Given the description of an element on the screen output the (x, y) to click on. 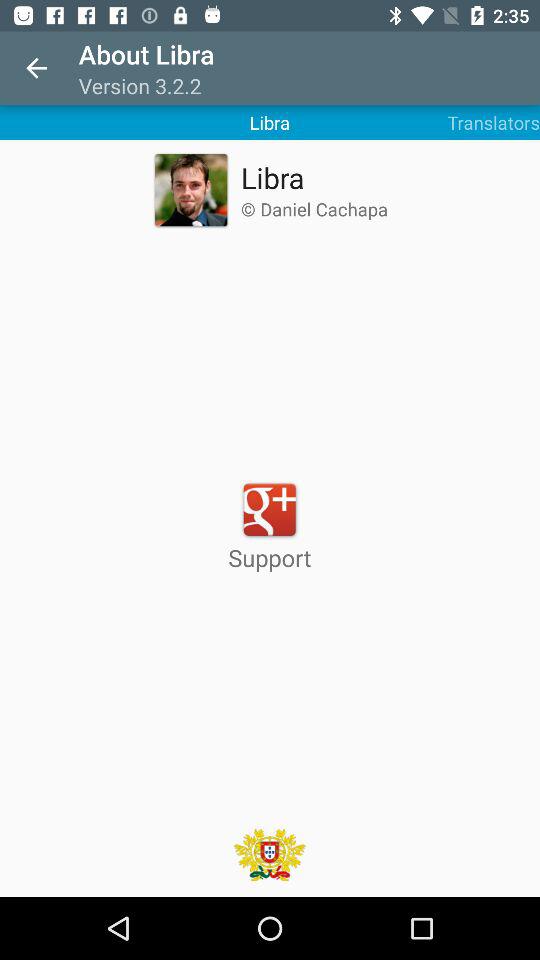
turn on icon to the left of version 3 2 app (36, 68)
